Given the description of an element on the screen output the (x, y) to click on. 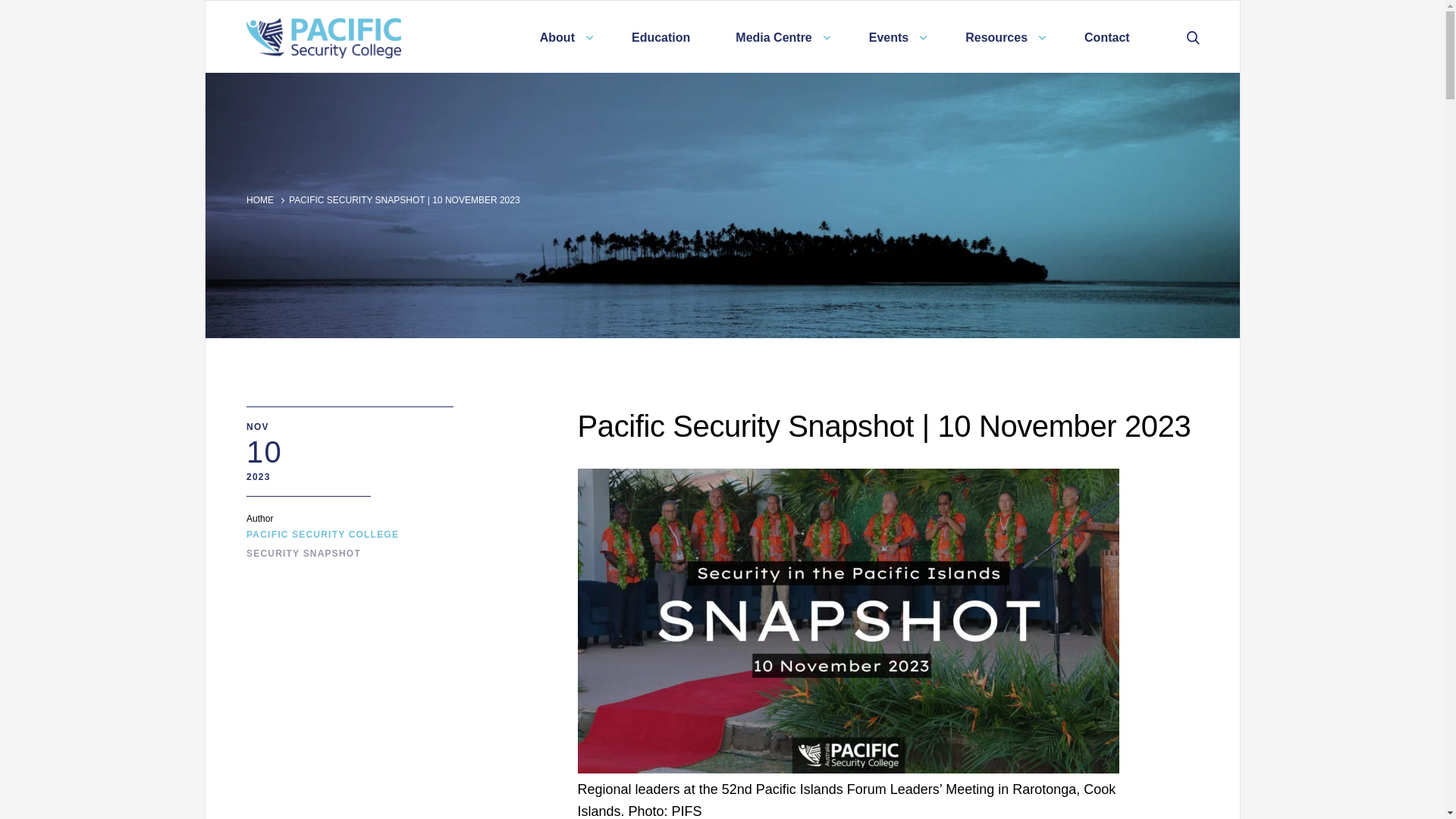
Resources (1001, 36)
Search (1196, 36)
About (562, 36)
Media Centre (779, 36)
Events (893, 36)
Pacific Security College Home (381, 38)
Contact (1107, 36)
Education (660, 36)
